Given the description of an element on the screen output the (x, y) to click on. 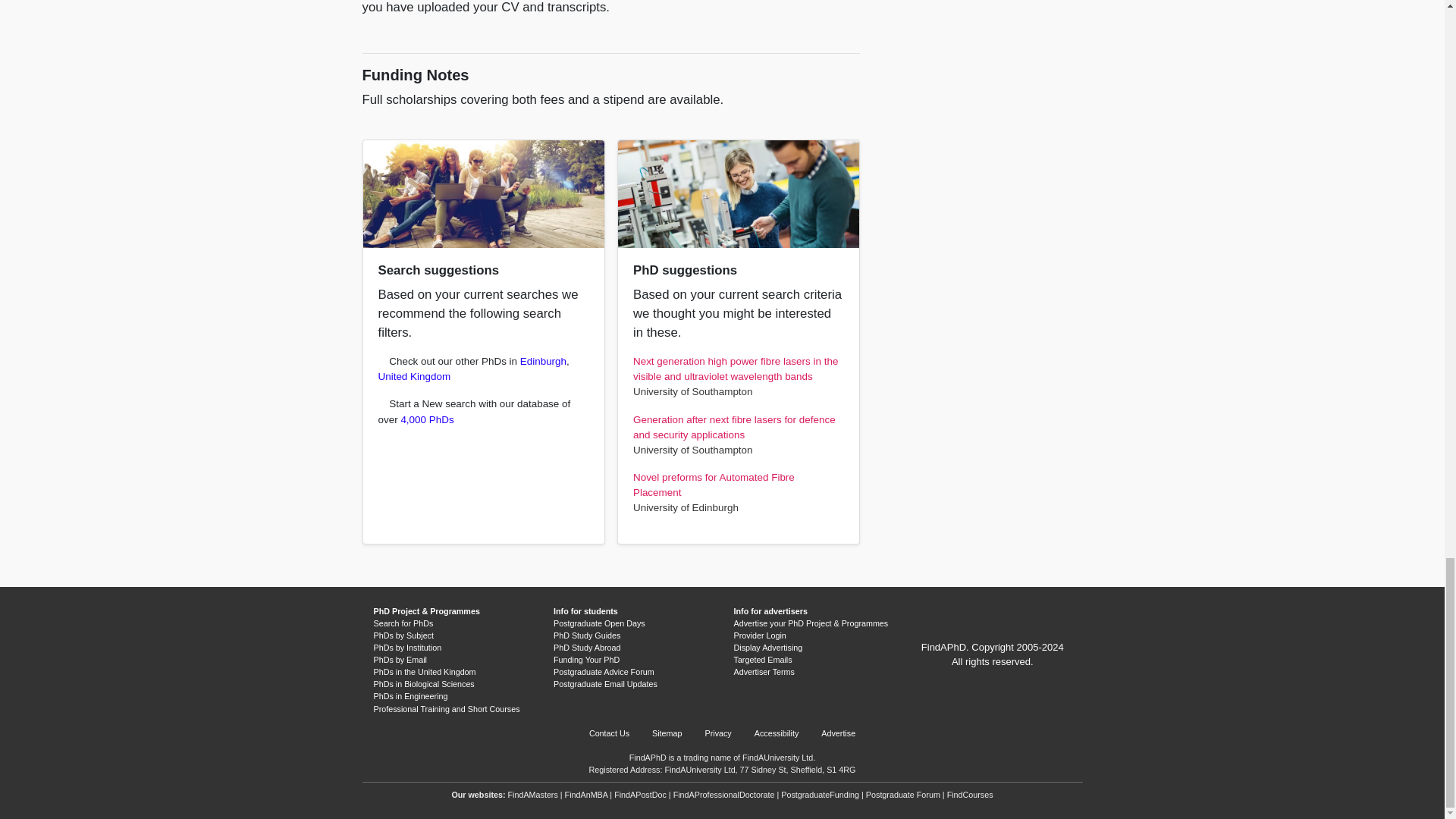
View all courses in United Kingdom (413, 376)
View all courses in Edinburgh (542, 360)
